Given the description of an element on the screen output the (x, y) to click on. 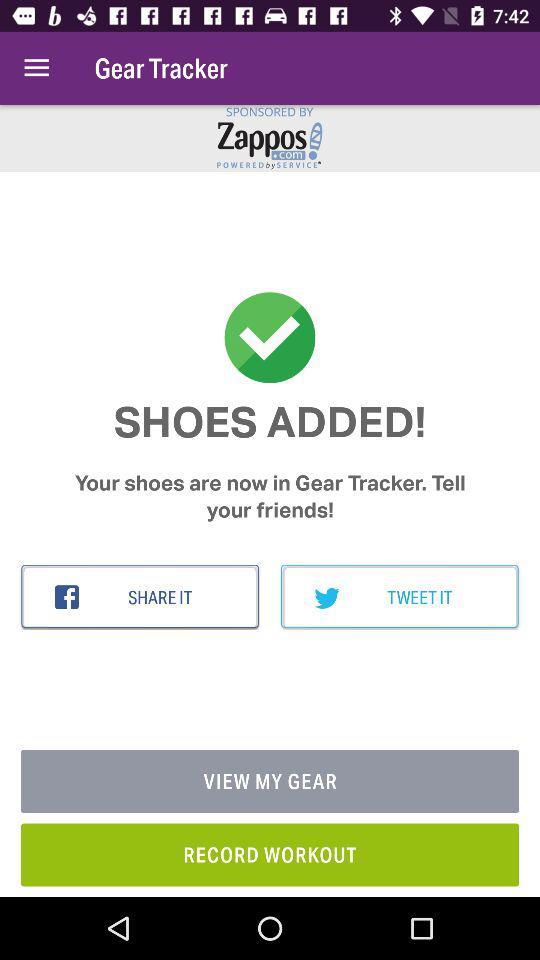
swipe until the share it icon (140, 597)
